Given the description of an element on the screen output the (x, y) to click on. 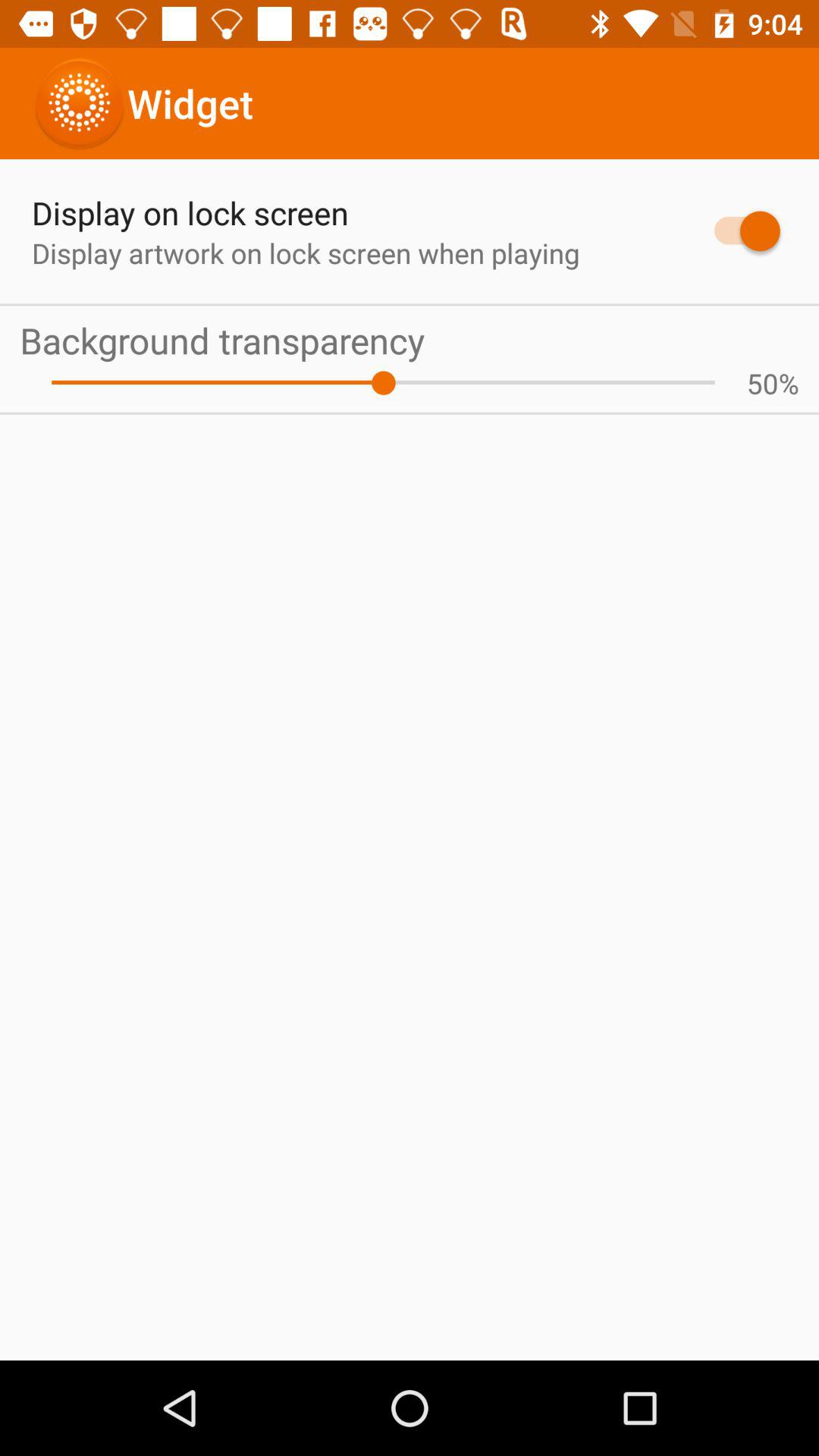
choose item next to 50 app (382, 382)
